Given the description of an element on the screen output the (x, y) to click on. 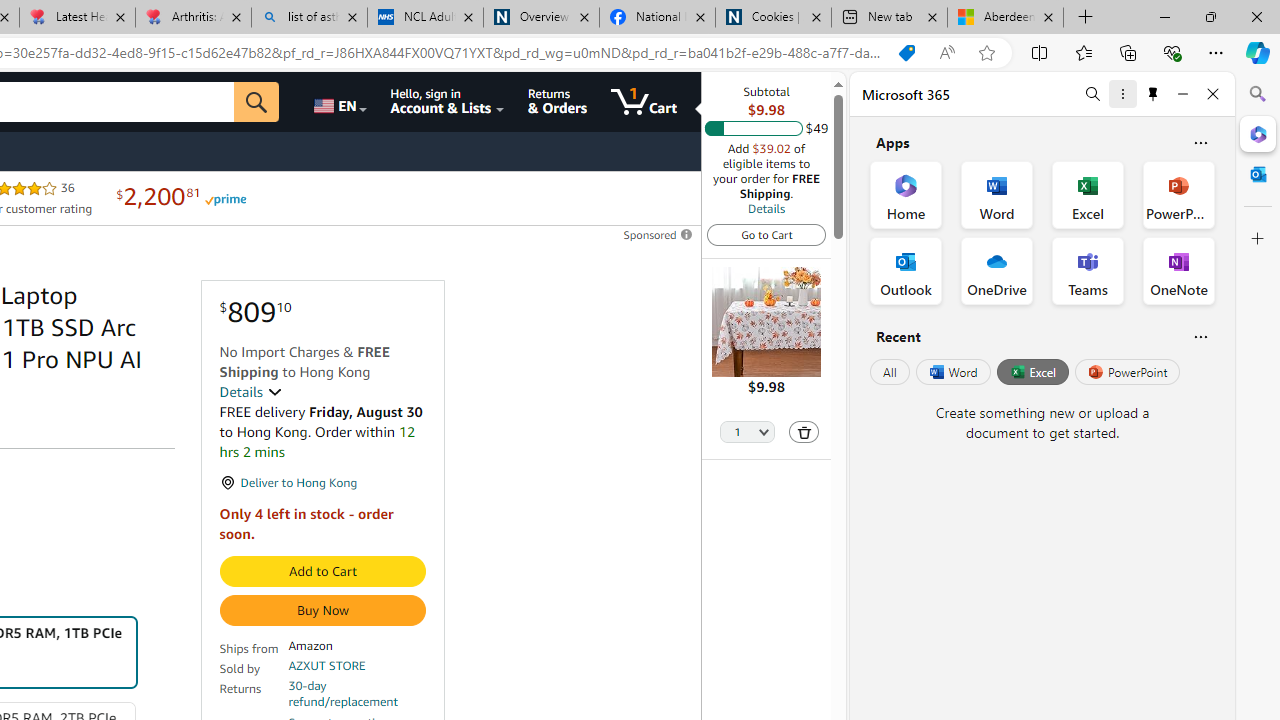
1 item in cart (643, 101)
Delete (804, 431)
Word (952, 372)
Excel (1031, 372)
Details (765, 208)
Prime (224, 198)
Teams Office App (1087, 270)
Hello, sign in Account & Lists (447, 101)
